Given the description of an element on the screen output the (x, y) to click on. 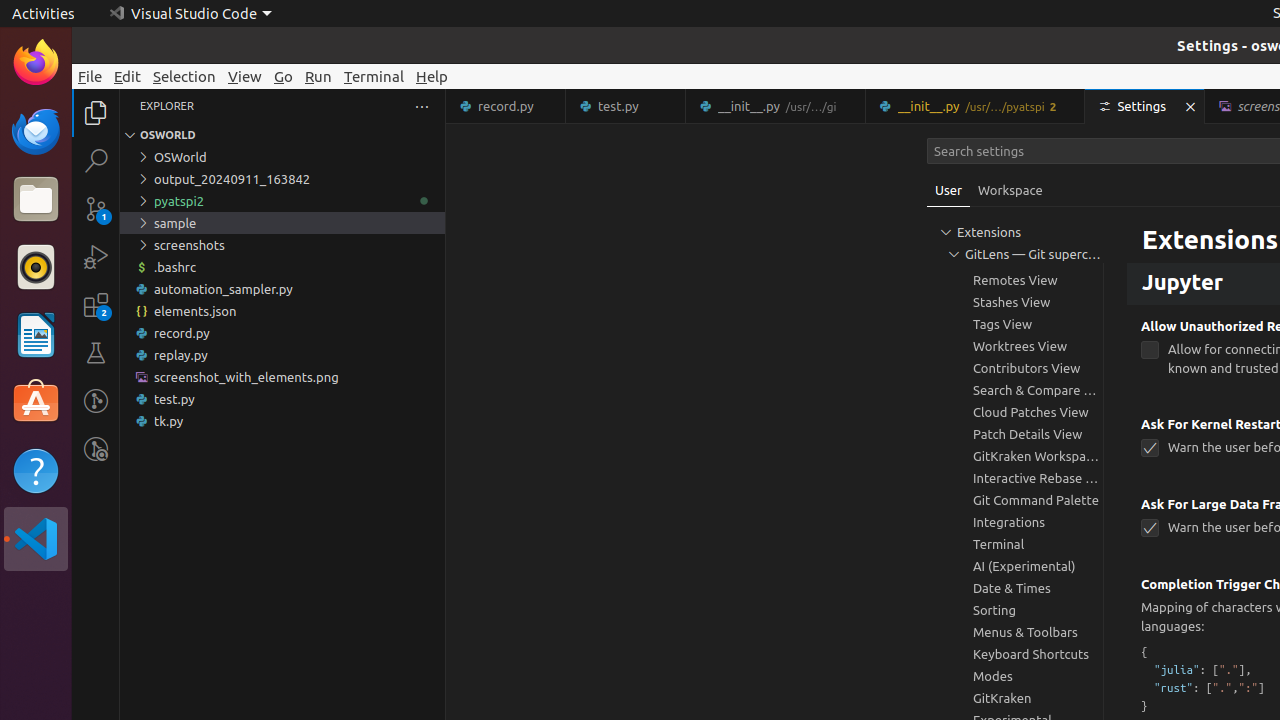
Sorting, group Element type: tree-item (1015, 610)
test.py Element type: tree-item (282, 399)
Tags View, group Element type: tree-item (1015, 324)
GitKraken Workspaces View, group Element type: tree-item (1015, 456)
Keyboard Shortcuts, group Element type: tree-item (1015, 654)
